Given the description of an element on the screen output the (x, y) to click on. 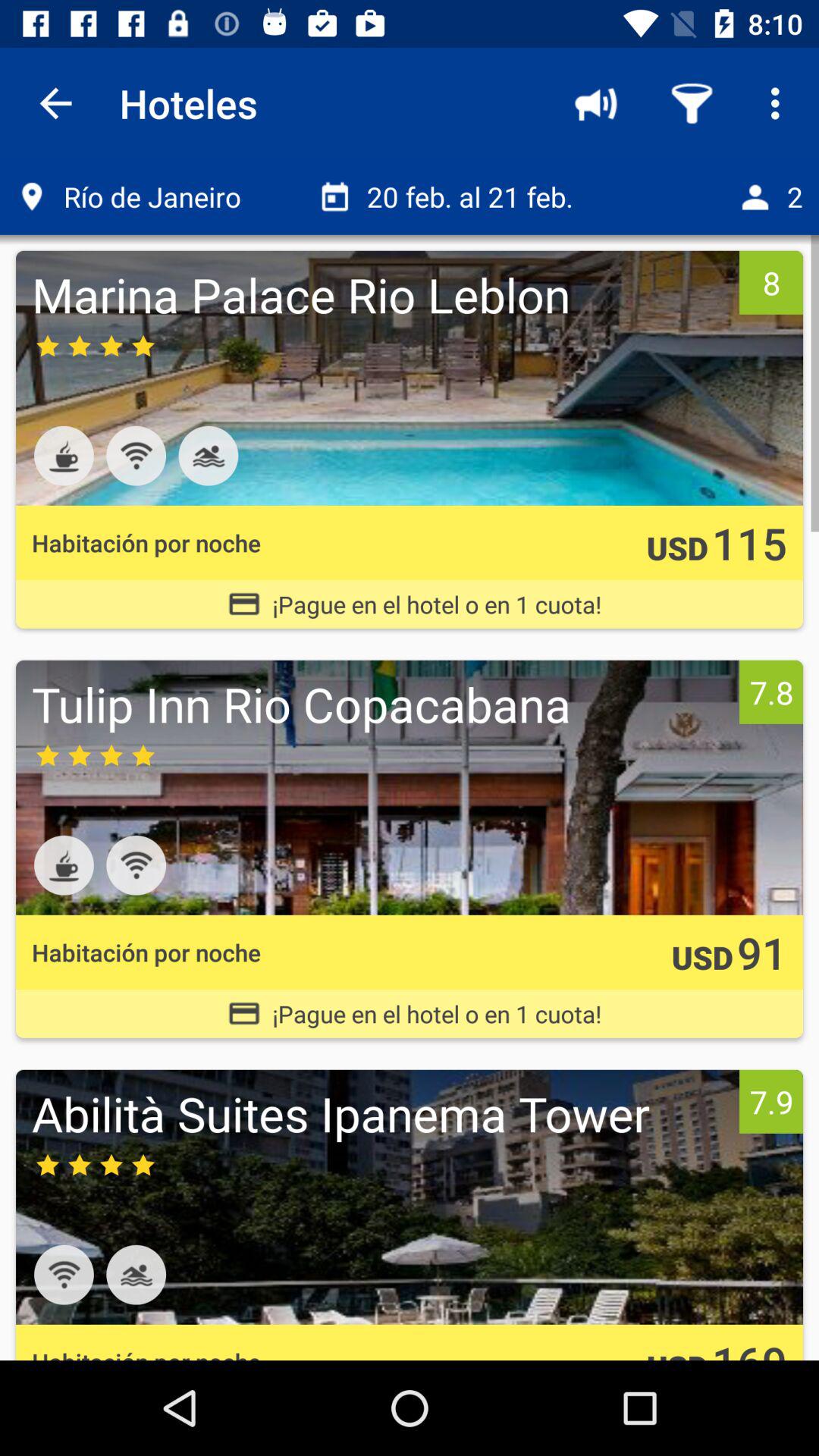
tap the item above the 20 feb al icon (595, 103)
